Given the description of an element on the screen output the (x, y) to click on. 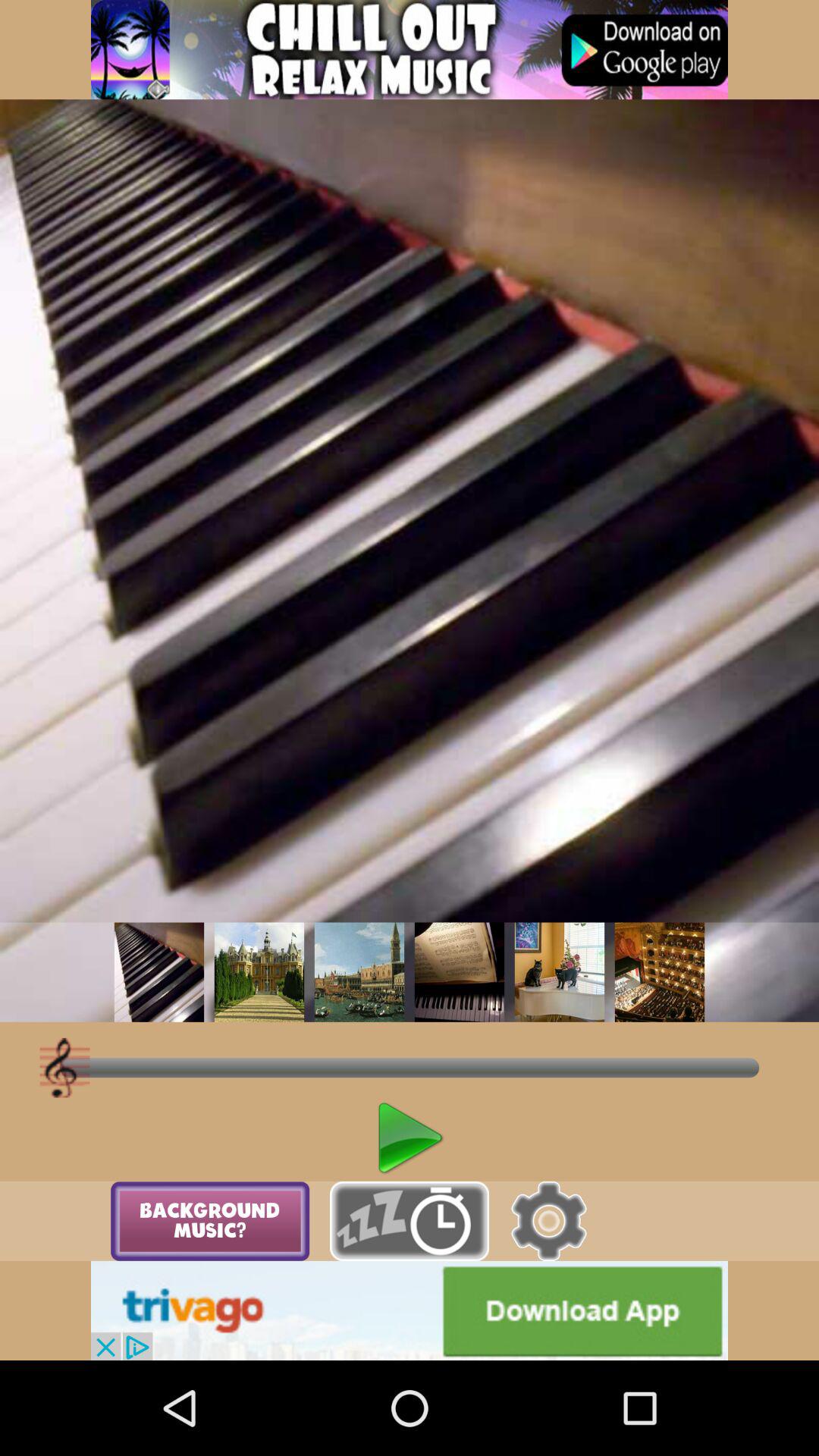
variable picture (359, 972)
